Given the description of an element on the screen output the (x, y) to click on. 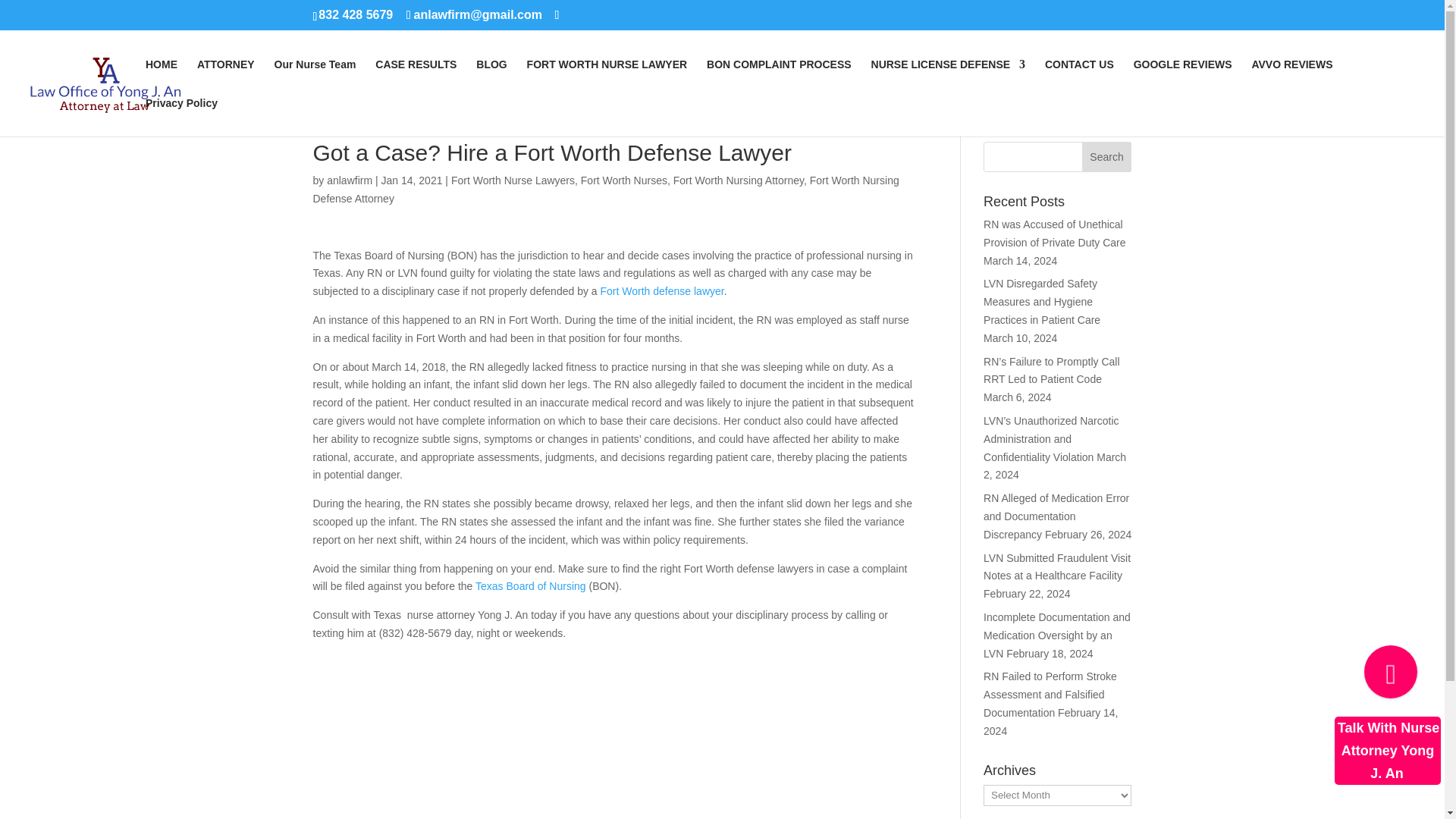
Search (1106, 156)
ATTORNEY (225, 77)
Posts by anlawfirm (349, 180)
CASE RESULTS (416, 77)
FORT WORTH NURSE LAWYER (607, 77)
BON COMPLAINT PROCESS (778, 77)
Our Nurse Team (315, 77)
NURSE LICENSE DEFENSE (948, 77)
